Given the description of an element on the screen output the (x, y) to click on. 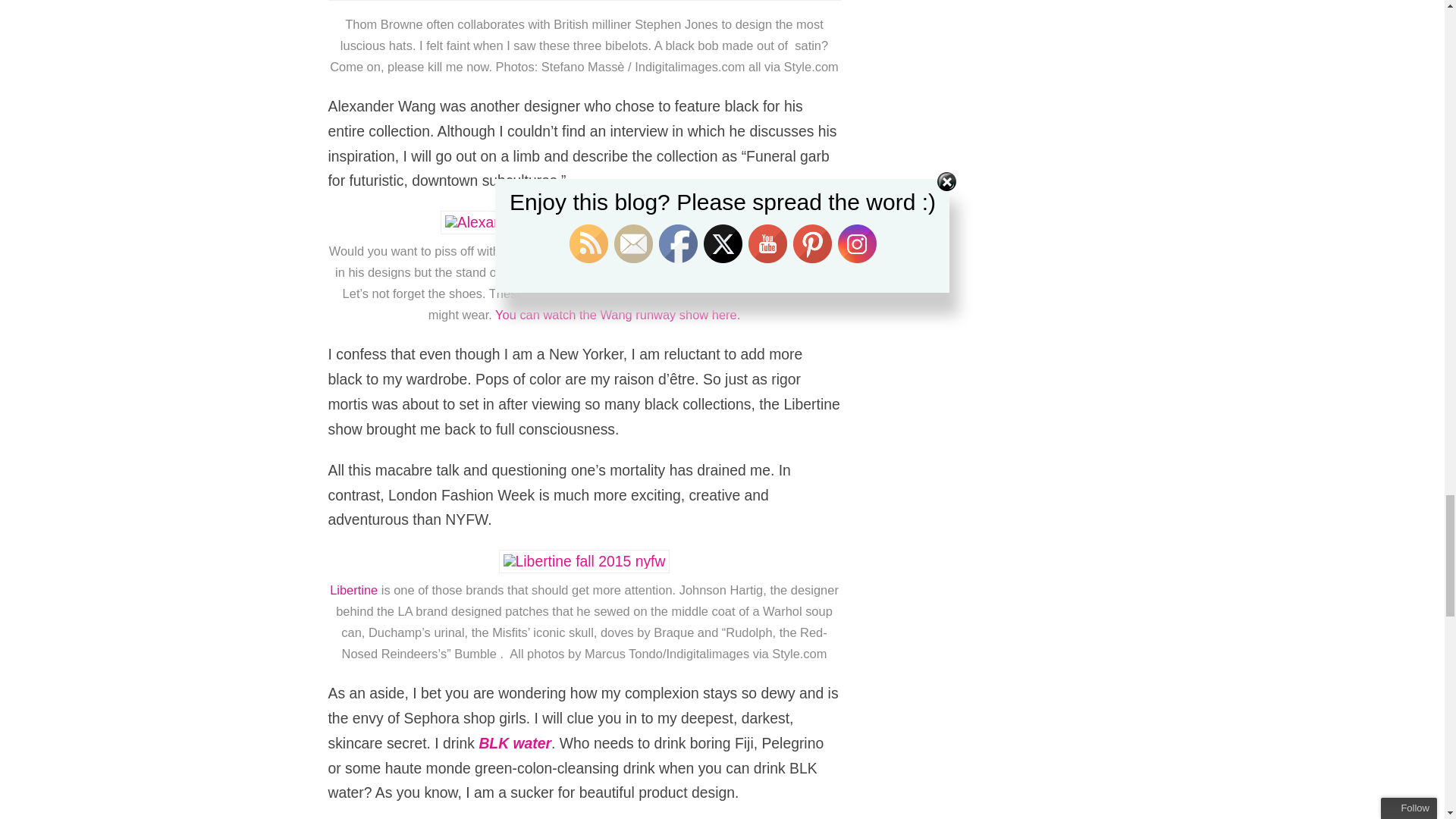
Alexander Wang runway video (617, 314)
Black BLK Water (515, 742)
Libertine (355, 590)
You can watch the Wang runway show here. (617, 314)
BLK water (515, 742)
Alexander Wang (639, 250)
Alexander Wang fall 2015 fashion week (639, 250)
Libertine brand NYFW (355, 590)
